Given the description of an element on the screen output the (x, y) to click on. 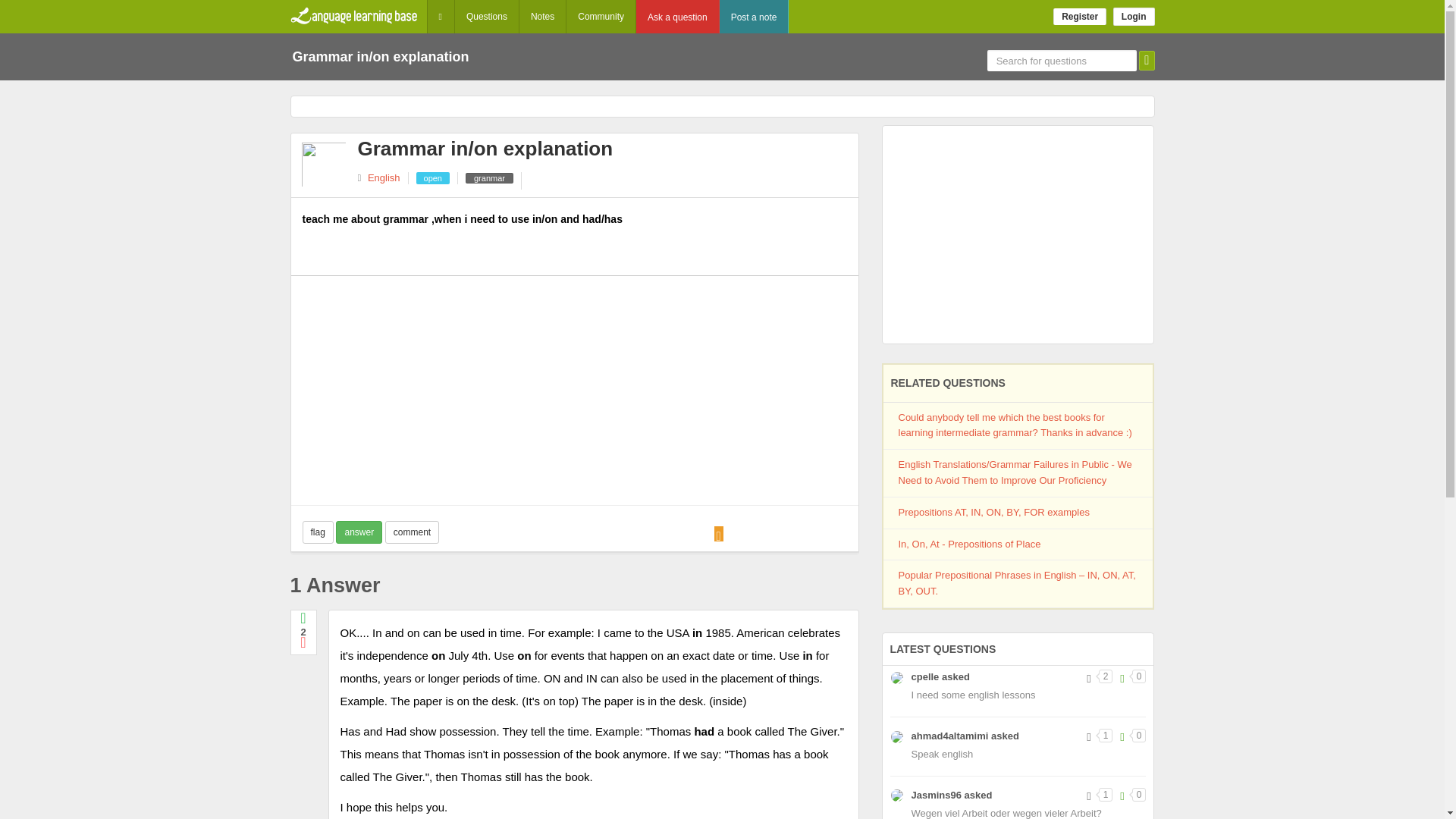
Notes (542, 16)
Register (1079, 16)
Status of question (432, 177)
Answer this question (358, 531)
answer (358, 531)
Click to vote down (303, 642)
Language Learning Base (354, 16)
flag (317, 531)
Add a comment on this question (412, 531)
English (384, 177)
